Given the description of an element on the screen output the (x, y) to click on. 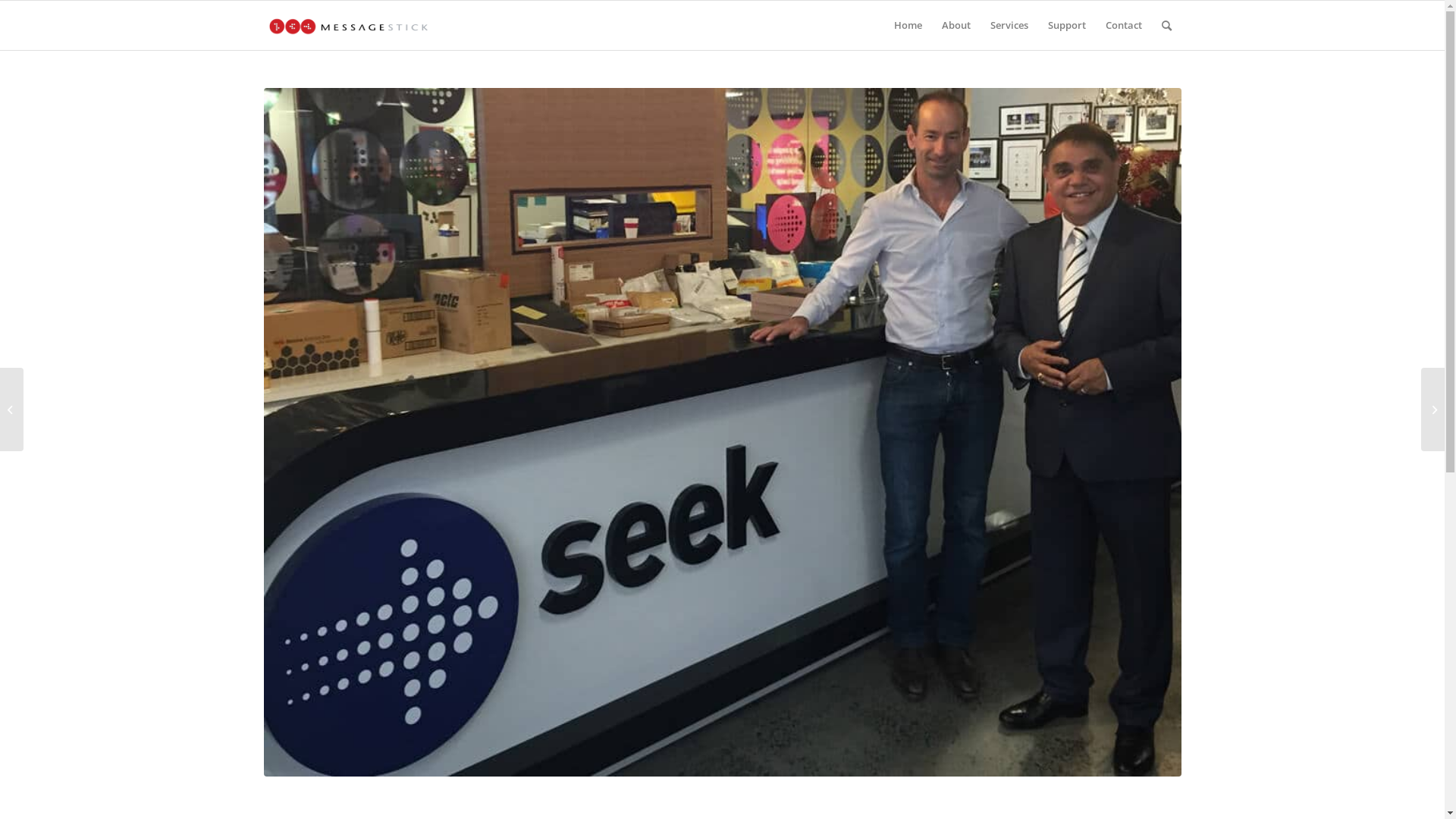
Home Element type: text (907, 25)
Seek Signing December 2014 v2 Element type: hover (722, 431)
About Element type: text (955, 25)
0.-Message-Stick-Horizontal-Logo-header Element type: hover (348, 25)
Support Element type: text (1066, 25)
Services Element type: text (1008, 25)
Contact Element type: text (1123, 25)
